Given the description of an element on the screen output the (x, y) to click on. 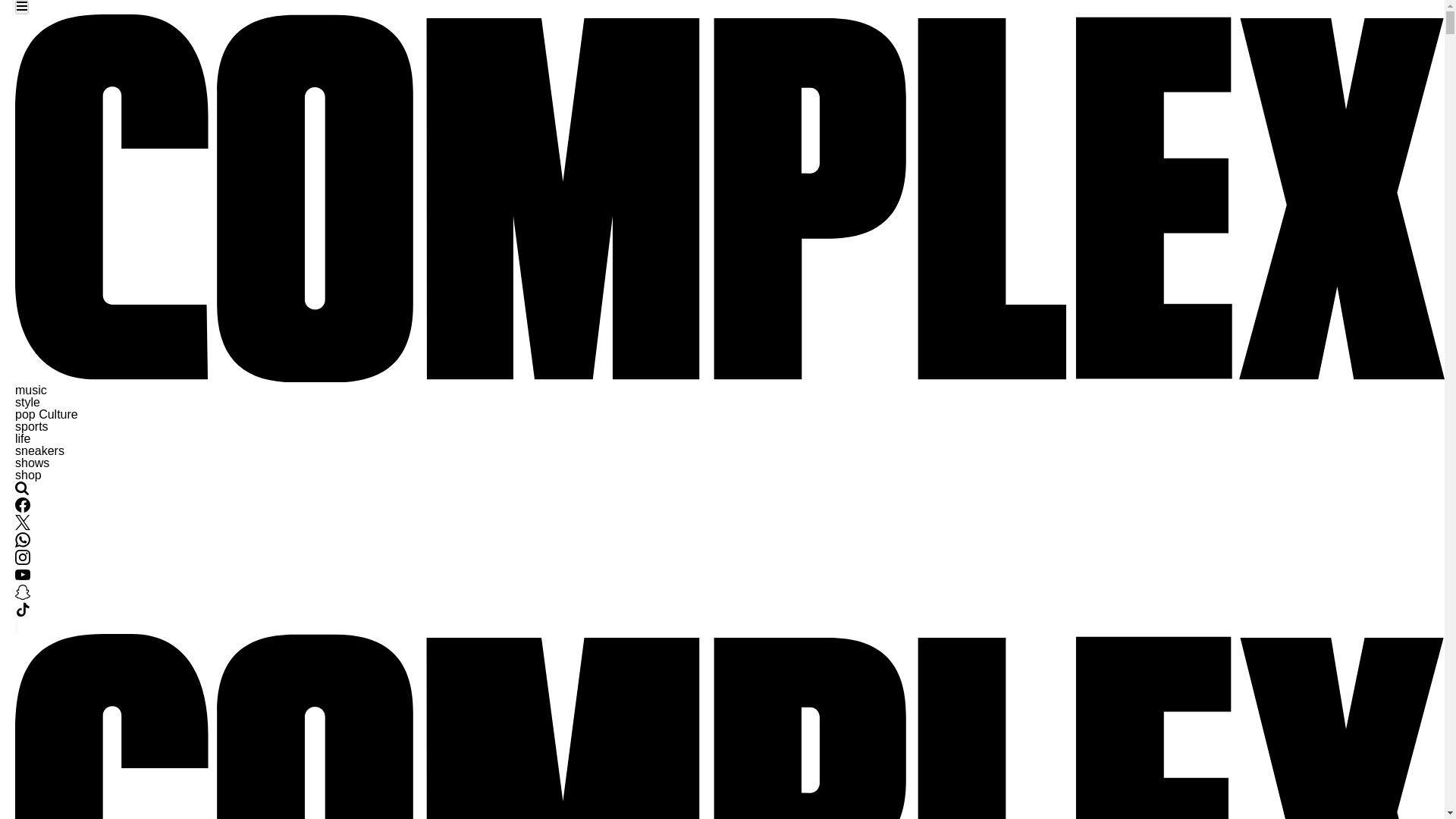
TikTok Navigation Icon (22, 612)
music (30, 390)
WhatsApp icon (22, 539)
Snapchat Navigation Icon (22, 594)
Facebook Navigation Icon (22, 508)
Instagram Navigation Icon (22, 560)
Search Icon (21, 488)
Facebook Navigation Icon (22, 504)
Youtube Navigation Icon (22, 574)
life (22, 438)
Youtube Navigation Icon (22, 577)
shop (28, 474)
Instagram Navigation Icon (22, 557)
sneakers (39, 450)
pop Culture (46, 413)
